Given the description of an element on the screen output the (x, y) to click on. 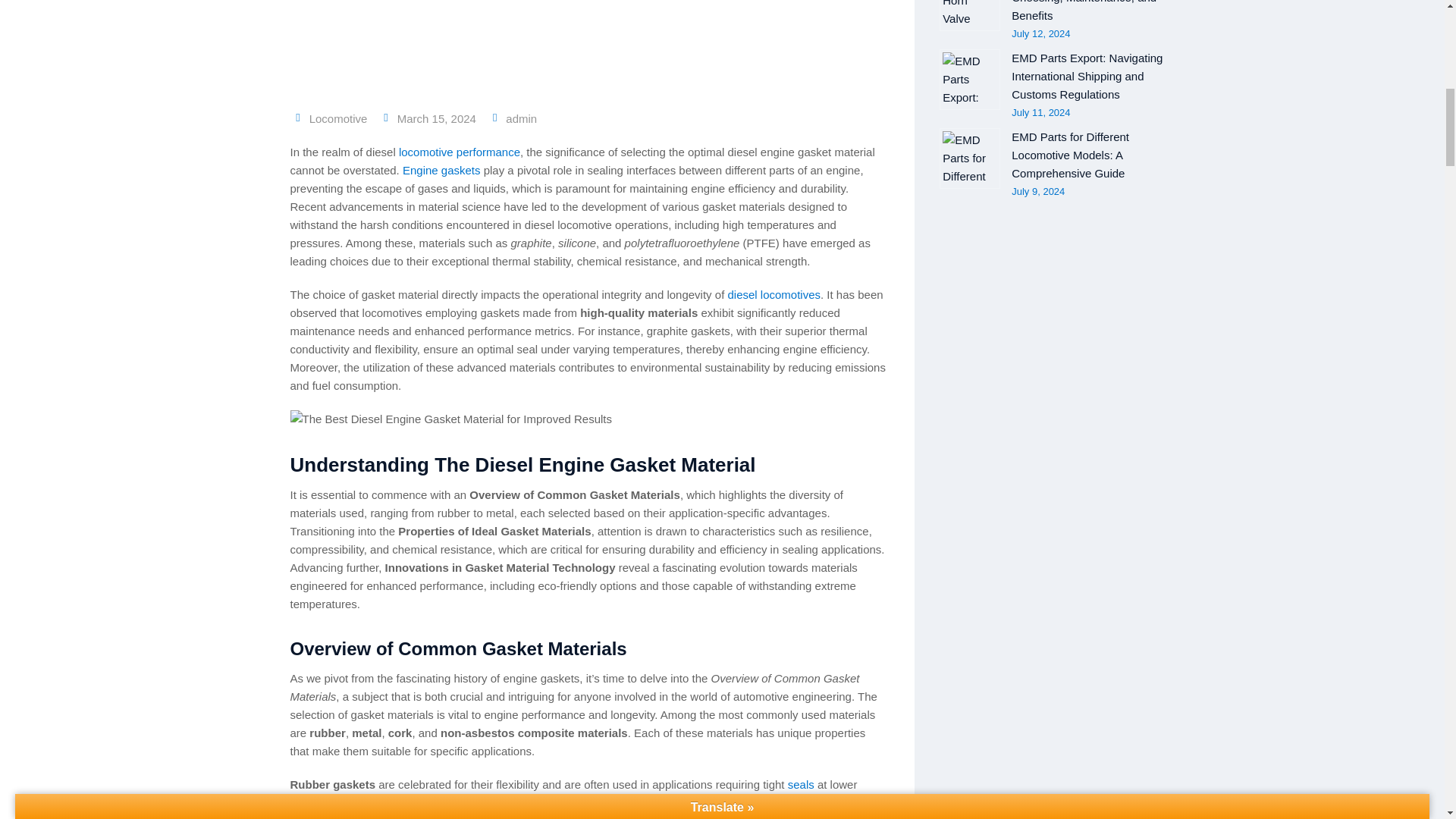
Engine gaskets (441, 169)
Train Horn Valve Guide: Choosing, Maintenance, and Benefits (969, 15)
March 15, 2024 (438, 118)
admin (521, 118)
The Best Diesel Engine Gasket Material for Improved Results (587, 45)
Locomotive (338, 118)
diesel locomotives (773, 294)
locomotive performance (458, 151)
seals (800, 784)
